Given the description of an element on the screen output the (x, y) to click on. 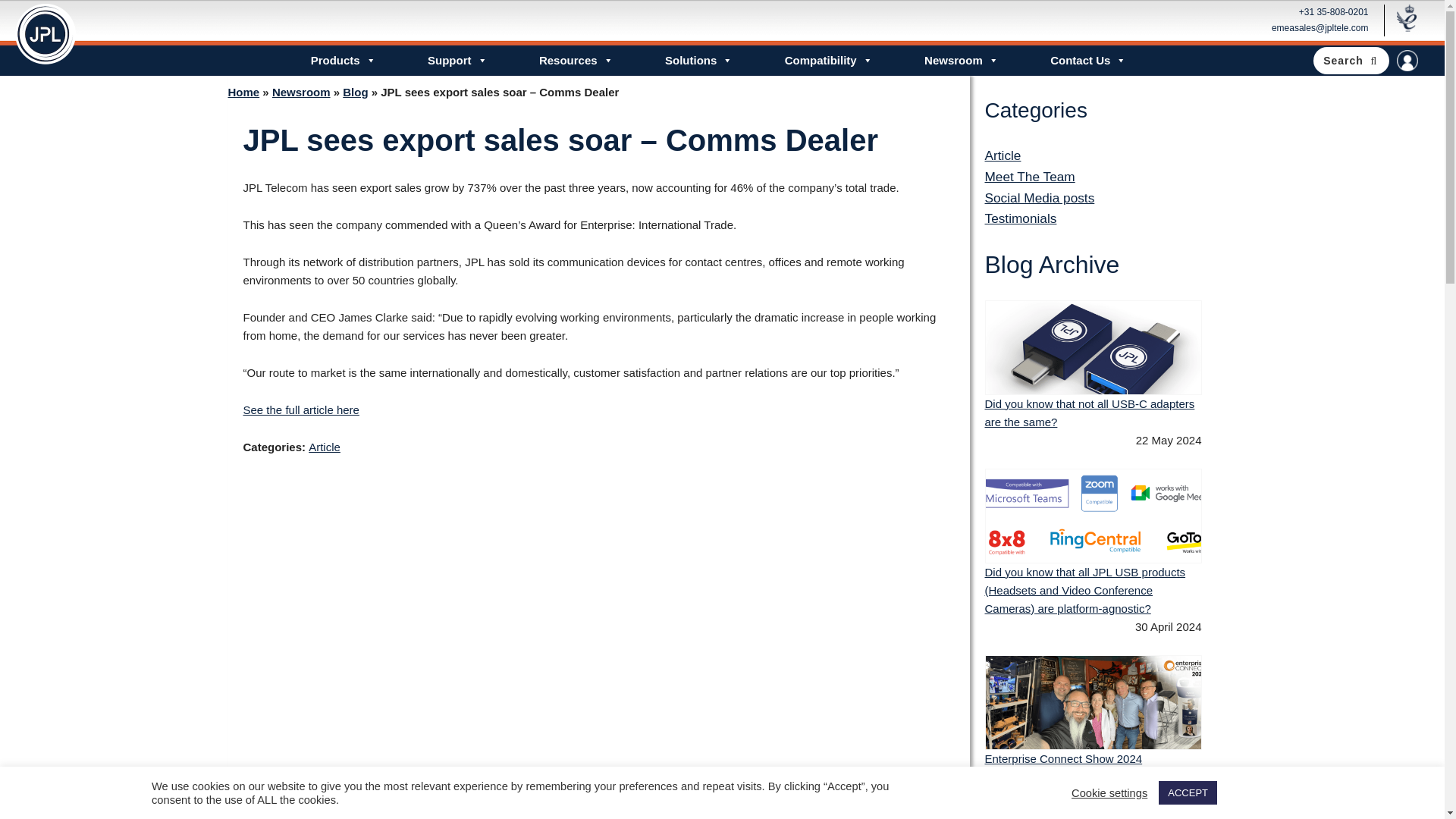
Partner Portal (1407, 60)
